Given the description of an element on the screen output the (x, y) to click on. 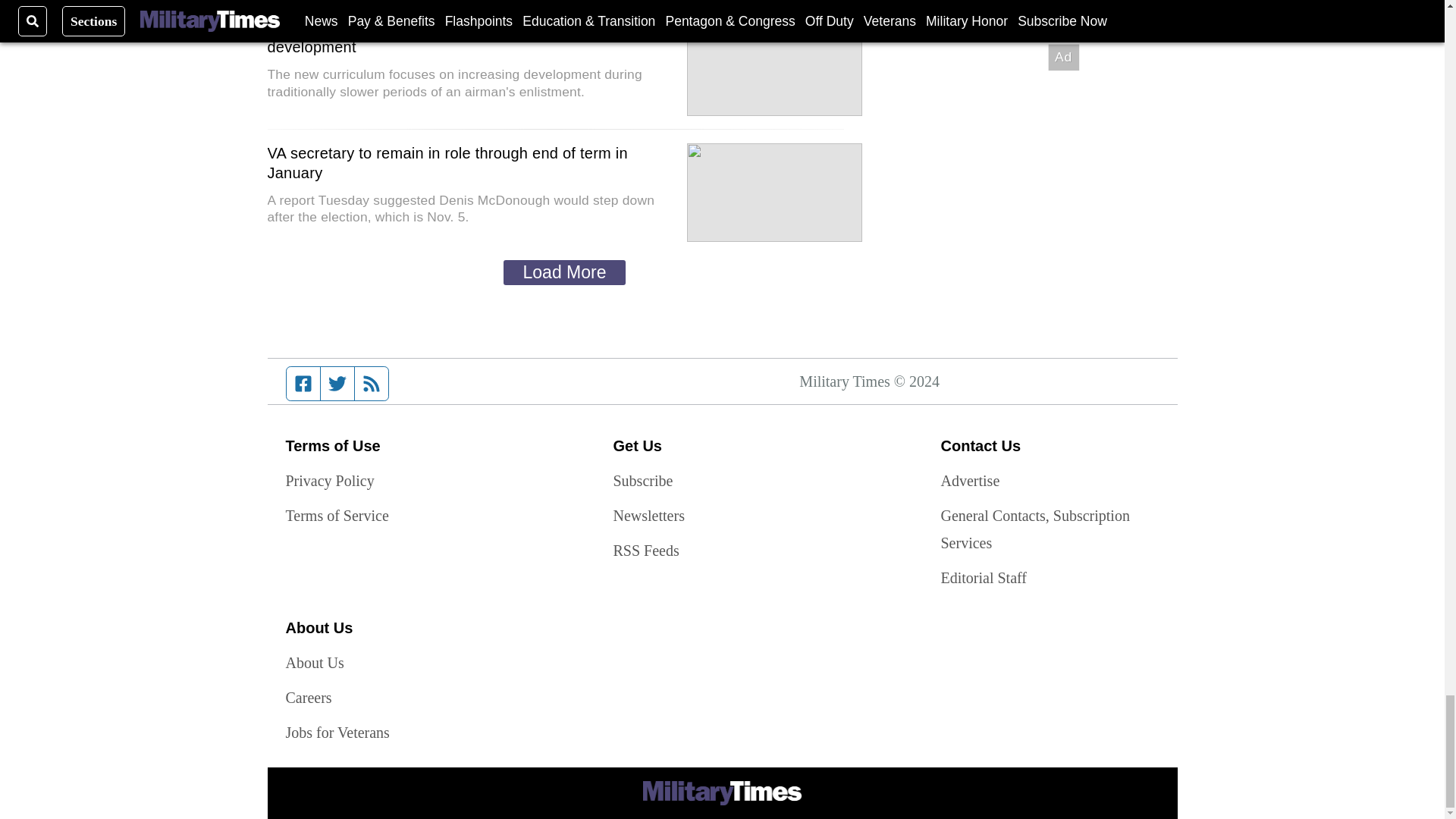
Facebook page (303, 383)
Twitter feed (336, 383)
RSS feed (371, 383)
